Given the description of an element on the screen output the (x, y) to click on. 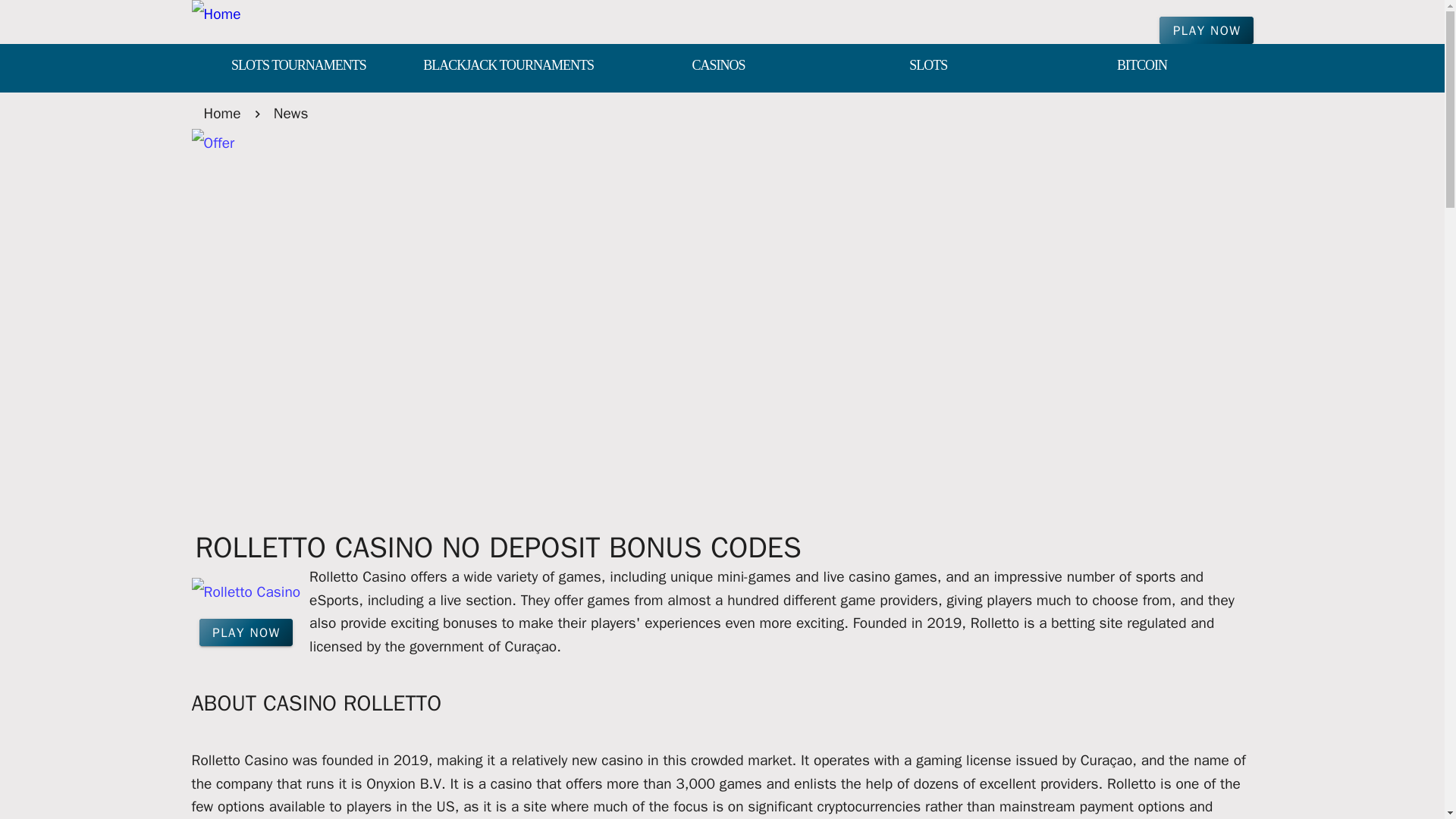
SLOTS (928, 66)
Home (221, 113)
SLOTS TOURNAMENTS (297, 66)
BITCOIN (1141, 66)
News (290, 113)
PLAY NOW (1205, 30)
PLAY NOW (245, 632)
BLACKJACK TOURNAMENTS (508, 66)
CASINOS (718, 66)
